Given the description of an element on the screen output the (x, y) to click on. 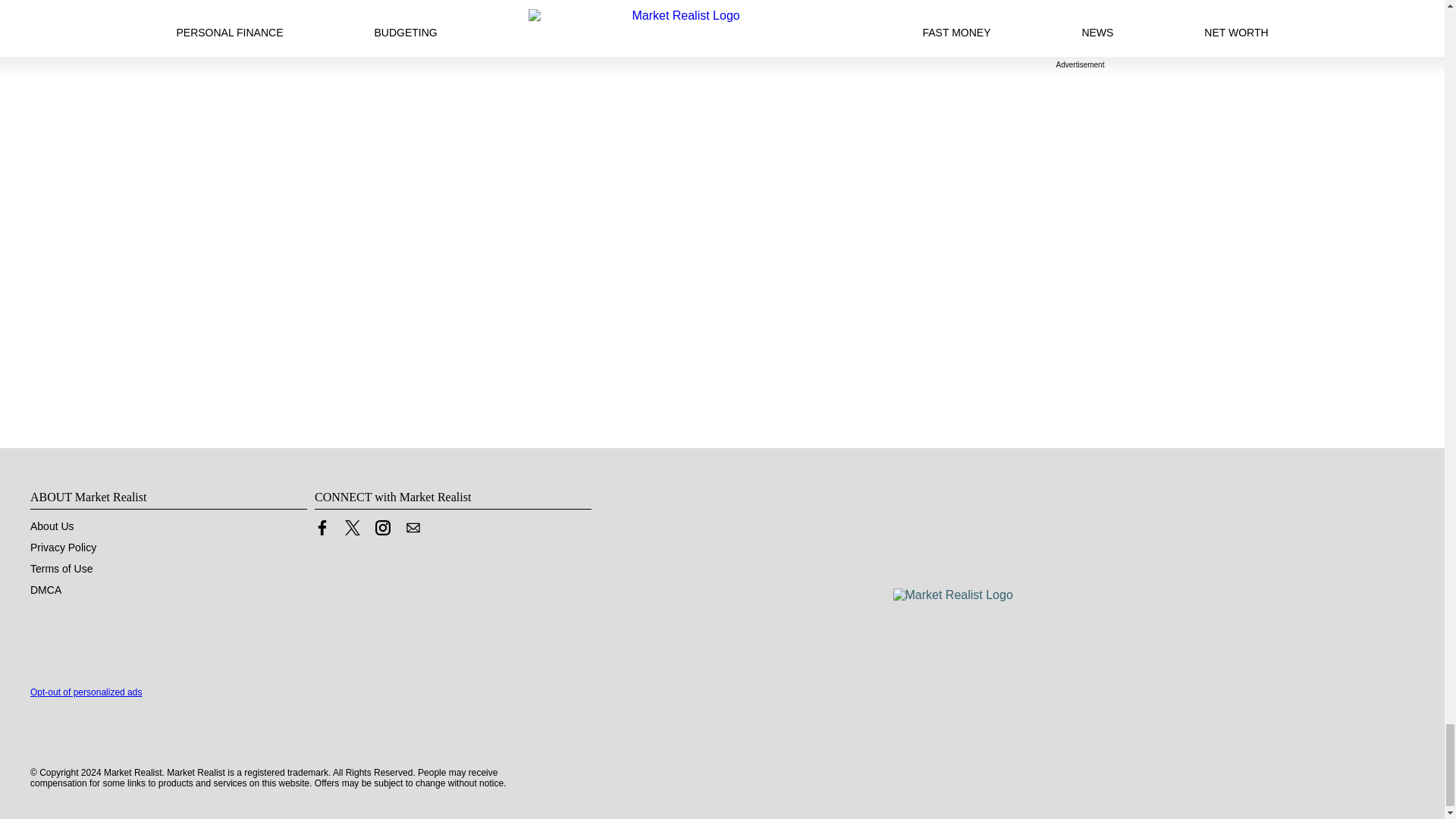
Link to Facebook (322, 531)
Link to X (352, 531)
Link to Facebook (322, 527)
Privacy Policy (63, 547)
DMCA (45, 589)
DMCA (45, 589)
Link to Instagram (382, 527)
Terms of Use (61, 568)
Link to Instagram (382, 531)
Contact us by Email (413, 531)
Contact us by Email (413, 527)
About Us (52, 526)
Link to X (352, 527)
Privacy Policy (63, 547)
About Us (52, 526)
